Given the description of an element on the screen output the (x, y) to click on. 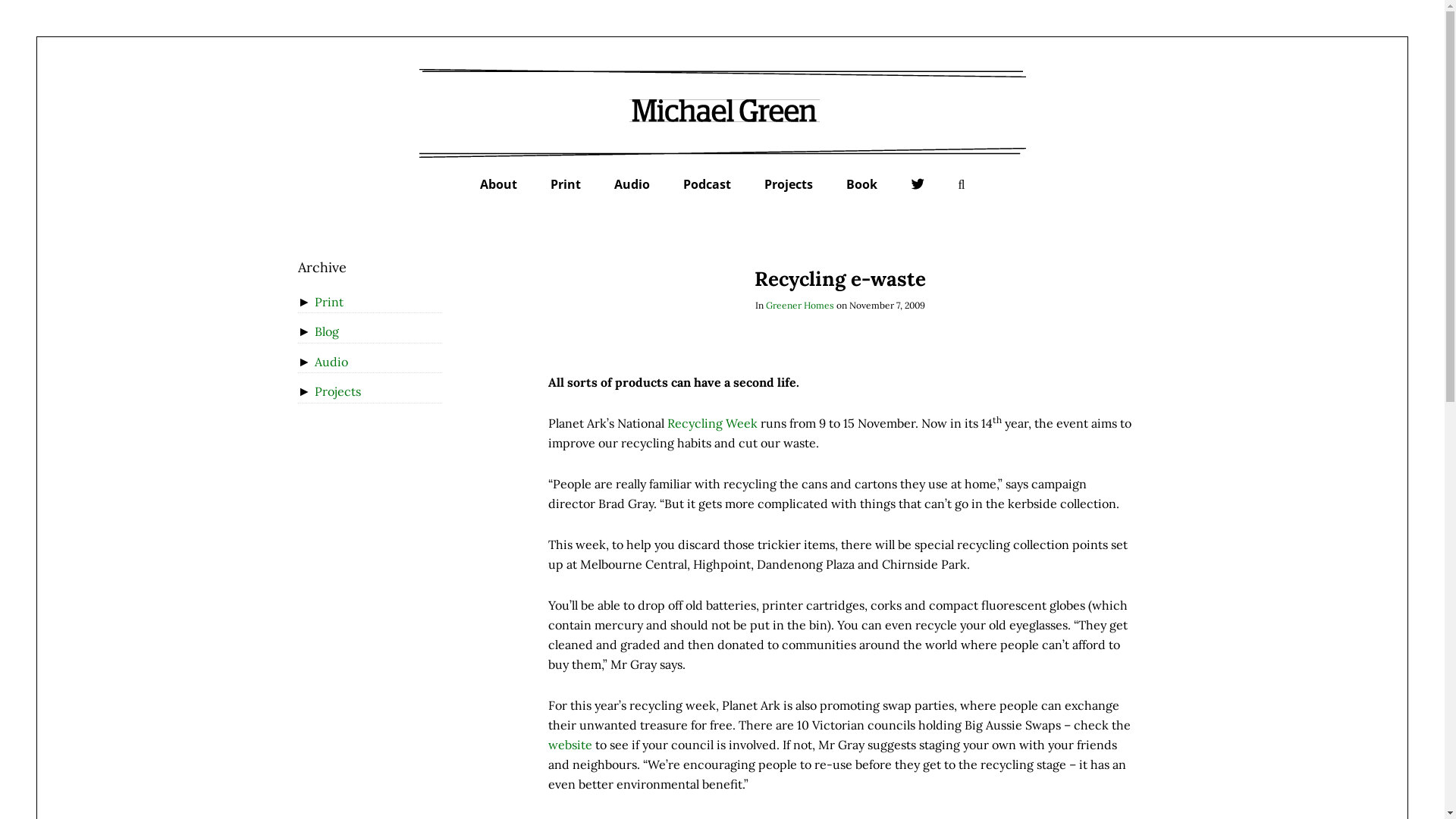
Podcast Element type: text (707, 183)
Greener Homes Element type: text (799, 304)
website Element type: text (569, 744)
Blog Element type: text (326, 330)
Recycling Week Element type: text (712, 422)
About Element type: text (498, 183)
Book Element type: text (861, 183)
Michael Green Element type: text (721, 109)
Audio Element type: text (331, 361)
Projects Element type: text (337, 390)
Projects Element type: text (788, 183)
Audio Element type: text (632, 183)
Print Element type: text (328, 301)
Print Element type: text (565, 183)
Twitter Element type: text (917, 184)
